Given the description of an element on the screen output the (x, y) to click on. 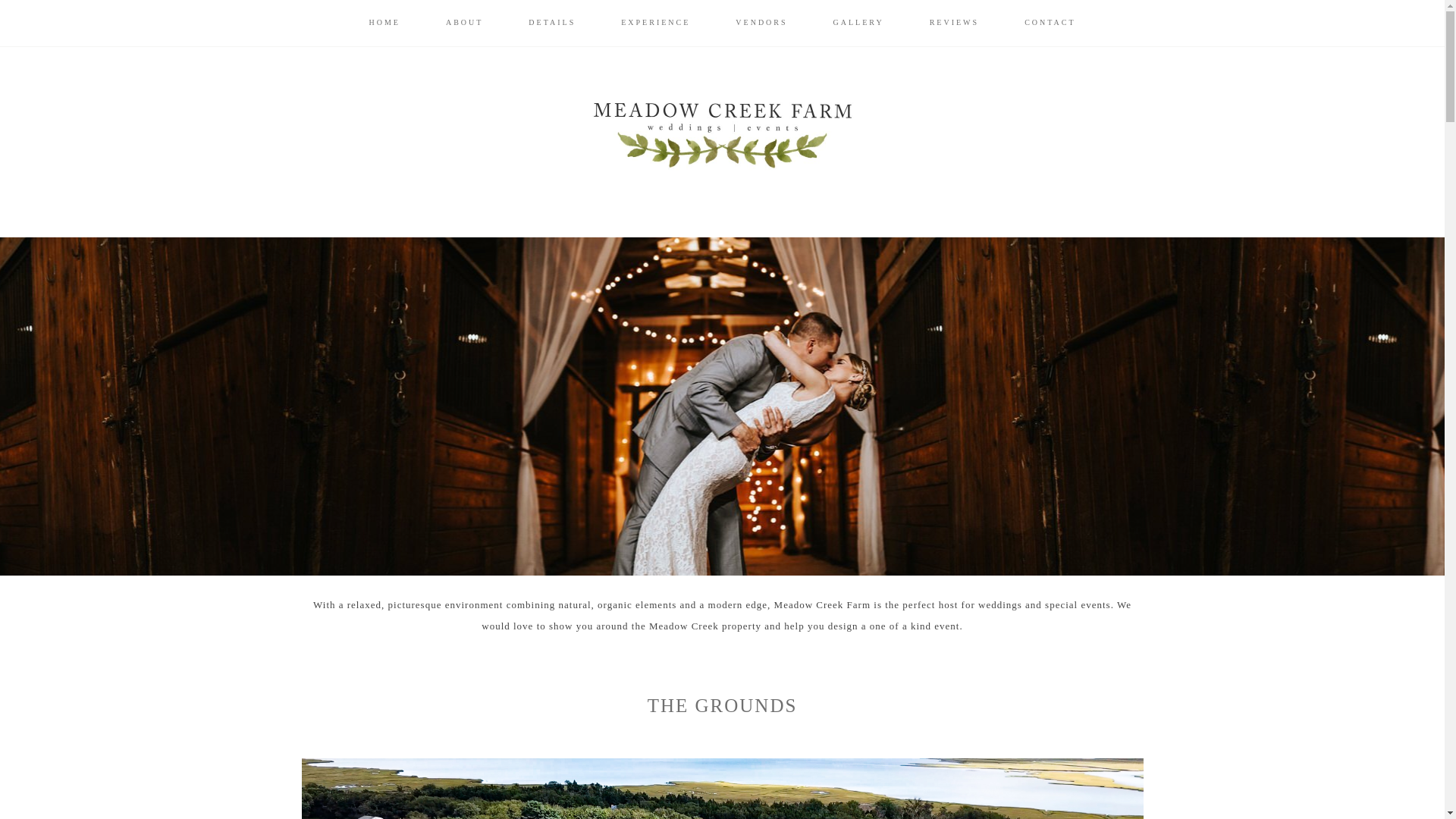
ABOUT (464, 22)
HOME (384, 22)
EXPERIENCE (655, 22)
VENDORS (761, 22)
DETAILS (551, 22)
REVIEWS (954, 22)
GALLERY (858, 22)
CONTACT (1049, 22)
Meadow Creek Farm (722, 136)
